Given the description of an element on the screen output the (x, y) to click on. 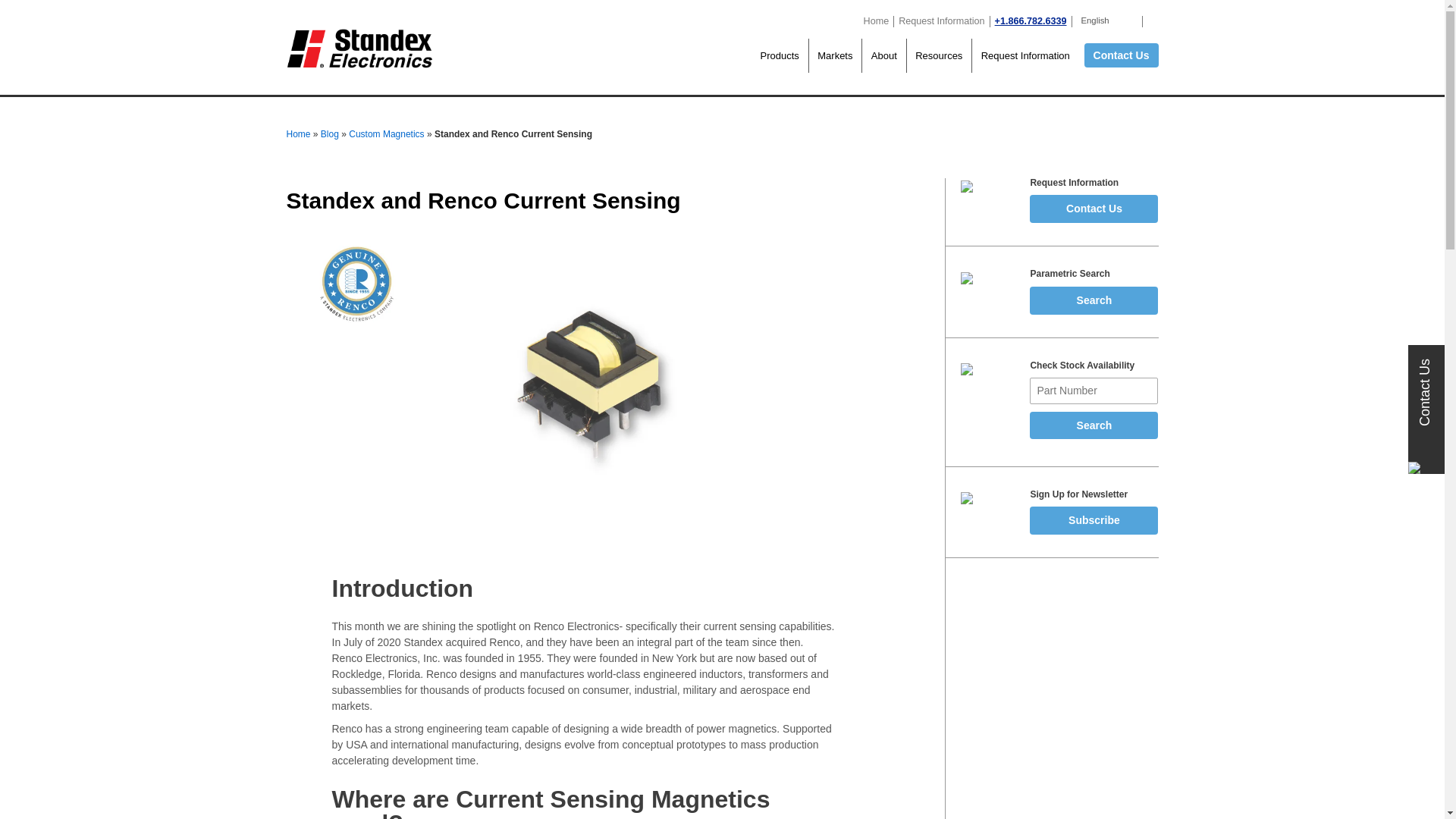
Products (779, 55)
Request Information (941, 20)
Markets (834, 55)
About (883, 55)
Search (1093, 424)
Search (1093, 424)
Home (876, 20)
Subscribe (1093, 520)
